Given the description of an element on the screen output the (x, y) to click on. 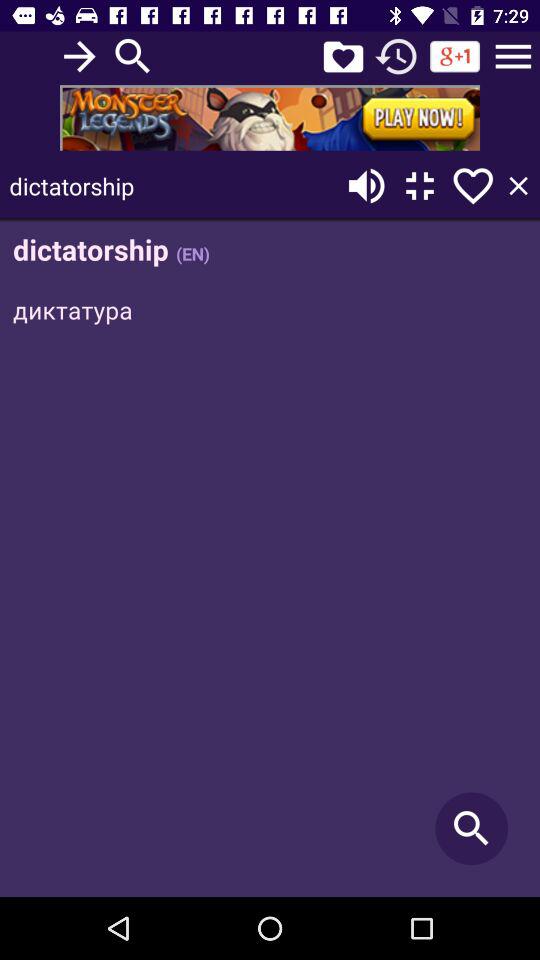
close (518, 185)
